Given the description of an element on the screen output the (x, y) to click on. 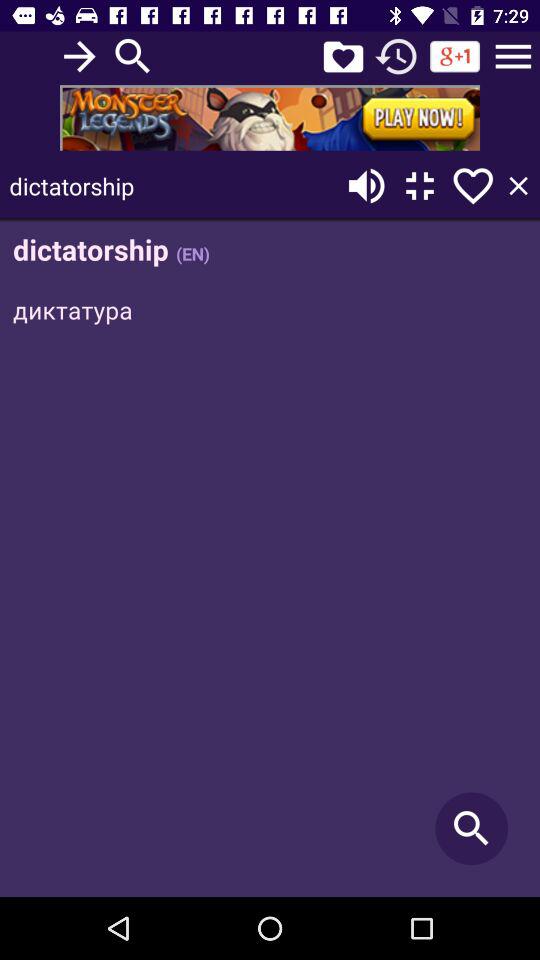
close (518, 185)
